Given the description of an element on the screen output the (x, y) to click on. 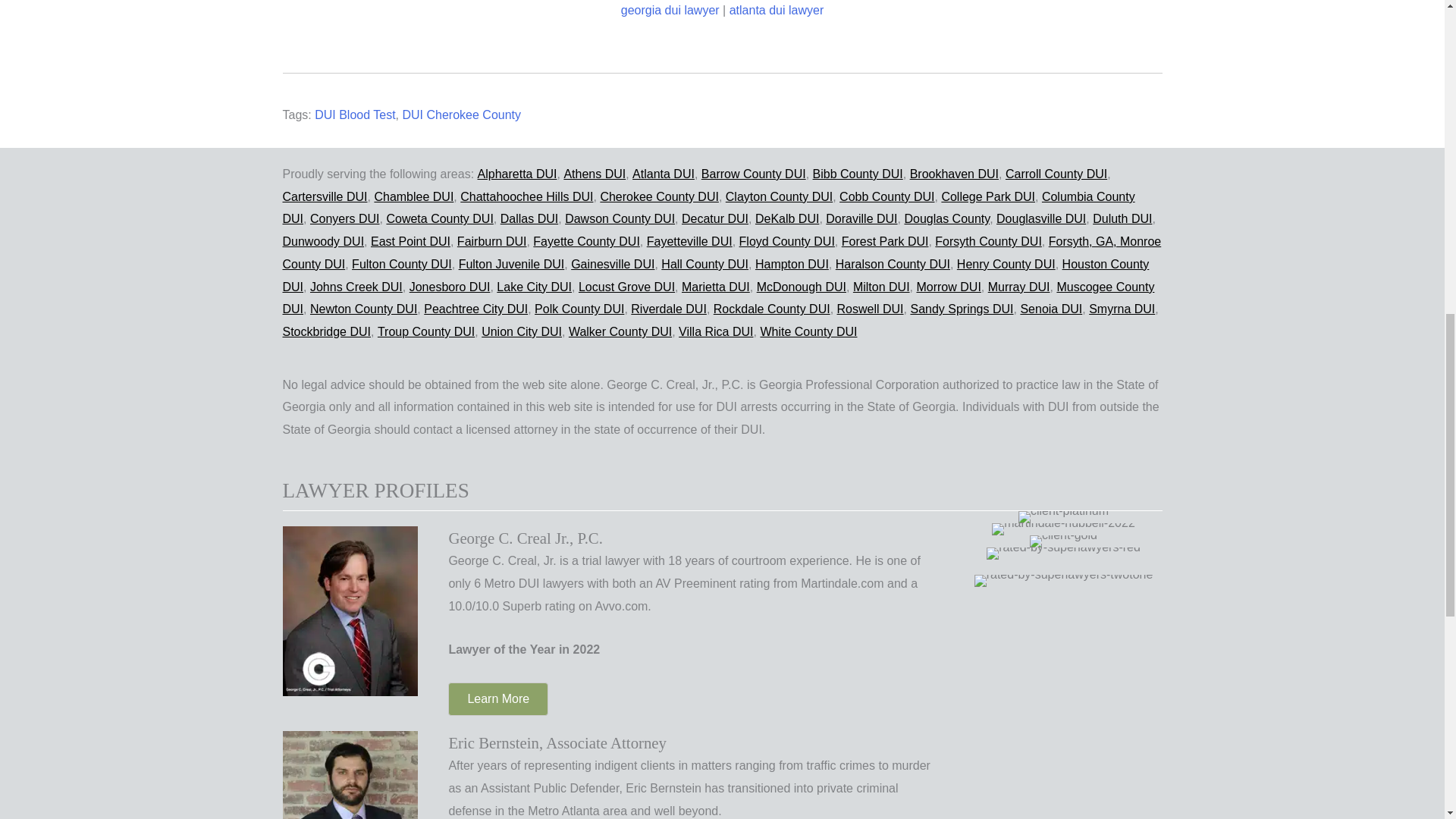
rated-by-superlawyers-twotone (1063, 579)
bernstein-DUI-attorney (349, 788)
martindale-hubbell-2022 (1063, 527)
George Creal DUI Attorney (349, 609)
client-gold (1063, 540)
client-platinum (1062, 515)
rated-by-superlawyers-red (1063, 552)
